Given the description of an element on the screen output the (x, y) to click on. 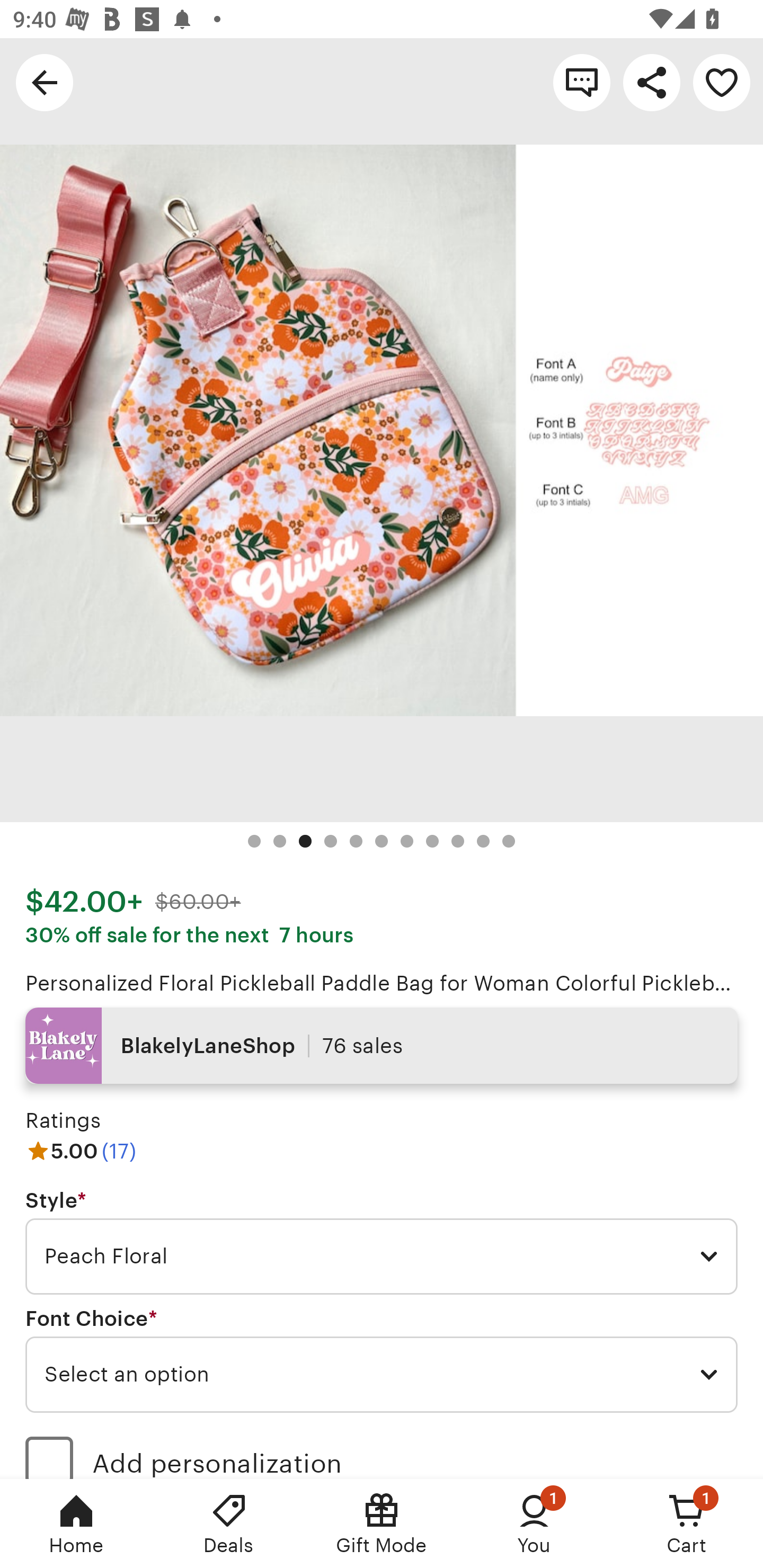
Navigate up (44, 81)
Contact shop (581, 81)
Share (651, 81)
BlakelyLaneShop 76 sales (381, 1045)
Ratings (62, 1120)
5.00 (17) (80, 1150)
Style * Required Peach Floral (381, 1241)
Peach Floral (381, 1256)
Font Choice * Required Select an option (381, 1359)
Select an option (381, 1373)
Add personalization (optional) Add personalization (381, 1451)
Deals (228, 1523)
Gift Mode (381, 1523)
You, 1 new notification You (533, 1523)
Cart, 1 new notification Cart (686, 1523)
